Given the description of an element on the screen output the (x, y) to click on. 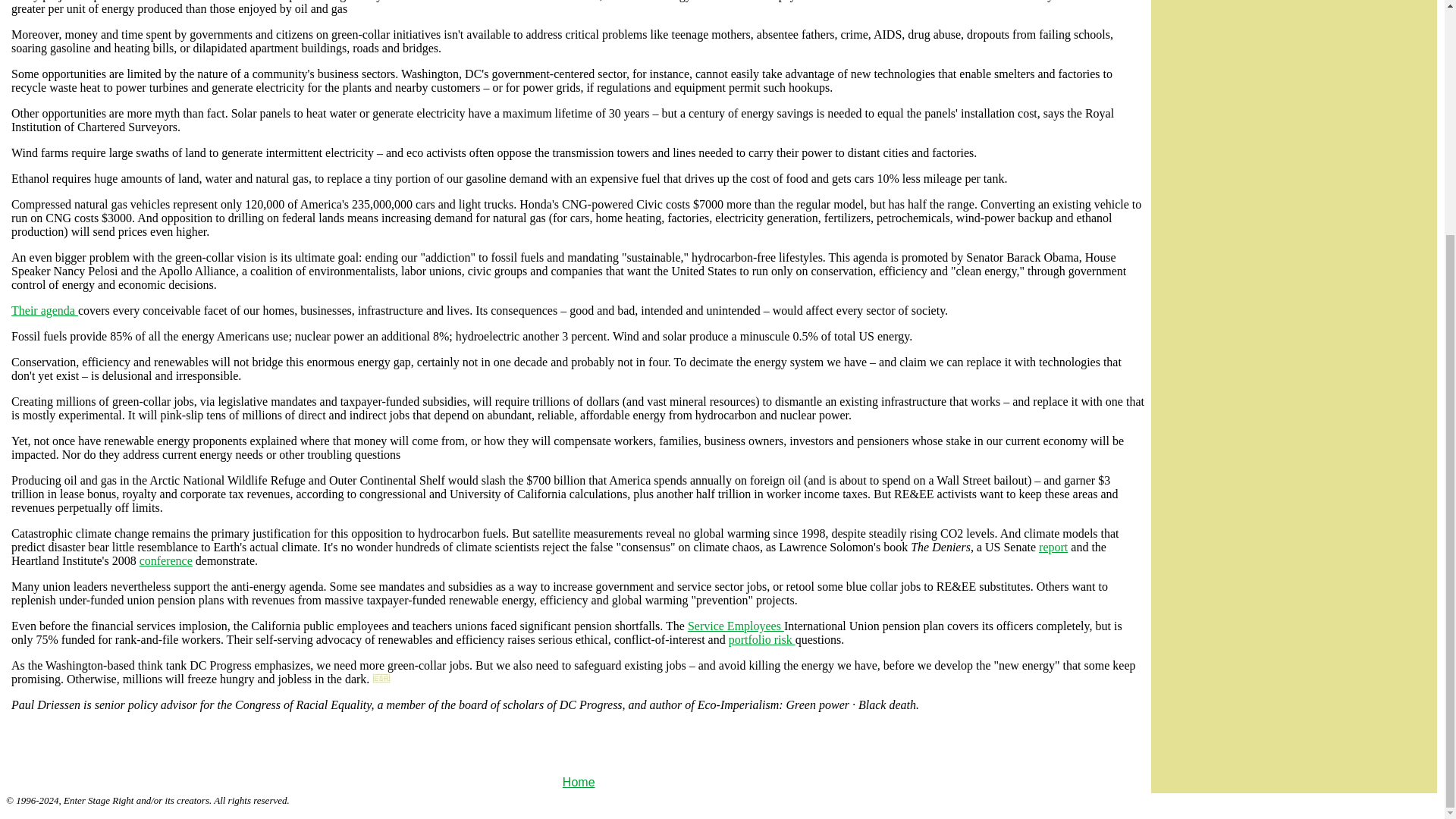
report (1053, 546)
conference (165, 560)
Home (578, 781)
Service Employees (735, 625)
Their agenda (44, 309)
portfolio risk (761, 639)
